Given the description of an element on the screen output the (x, y) to click on. 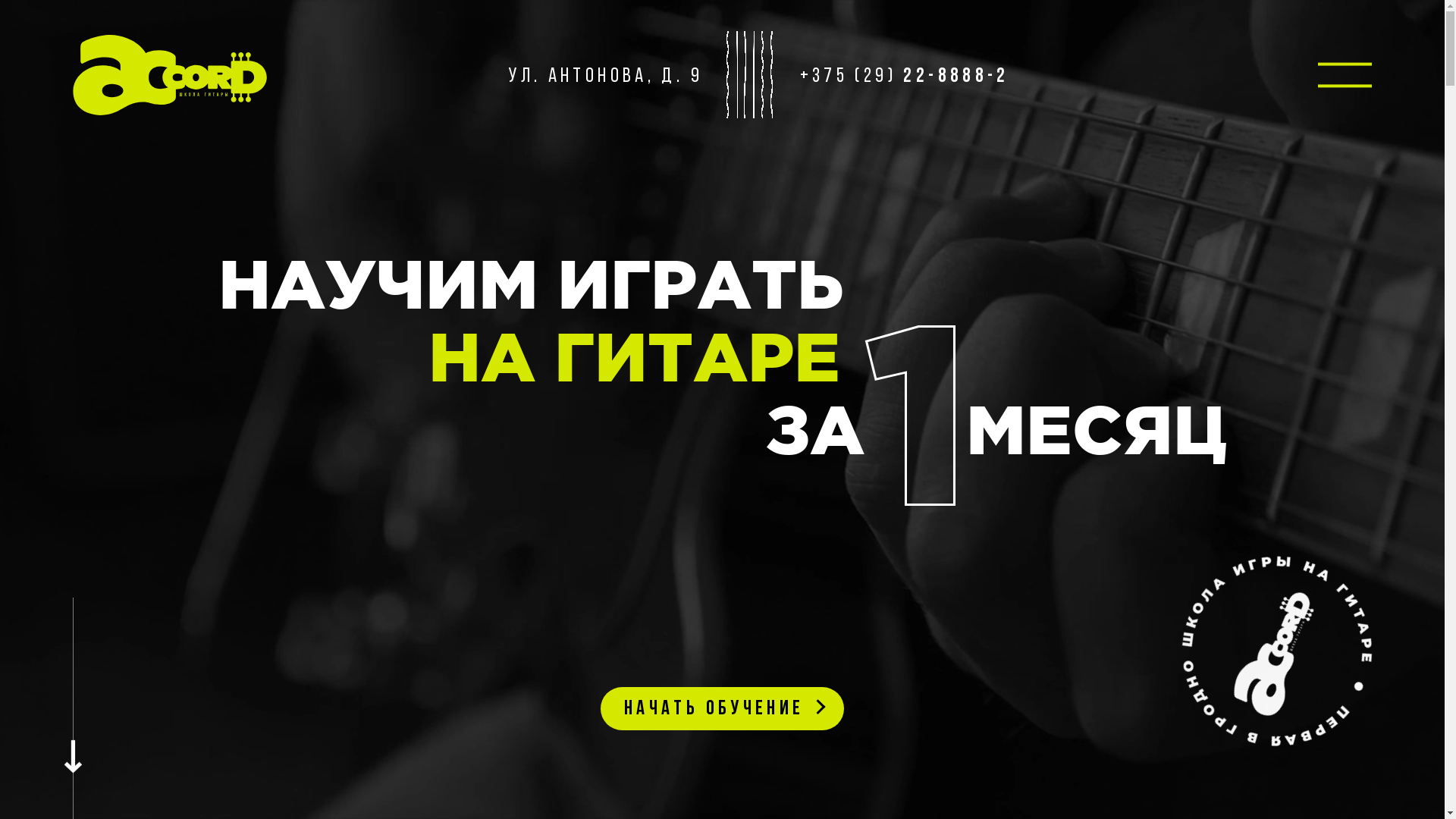
+375 (29) 22-8888-2 Element type: text (904, 76)
